Given the description of an element on the screen output the (x, y) to click on. 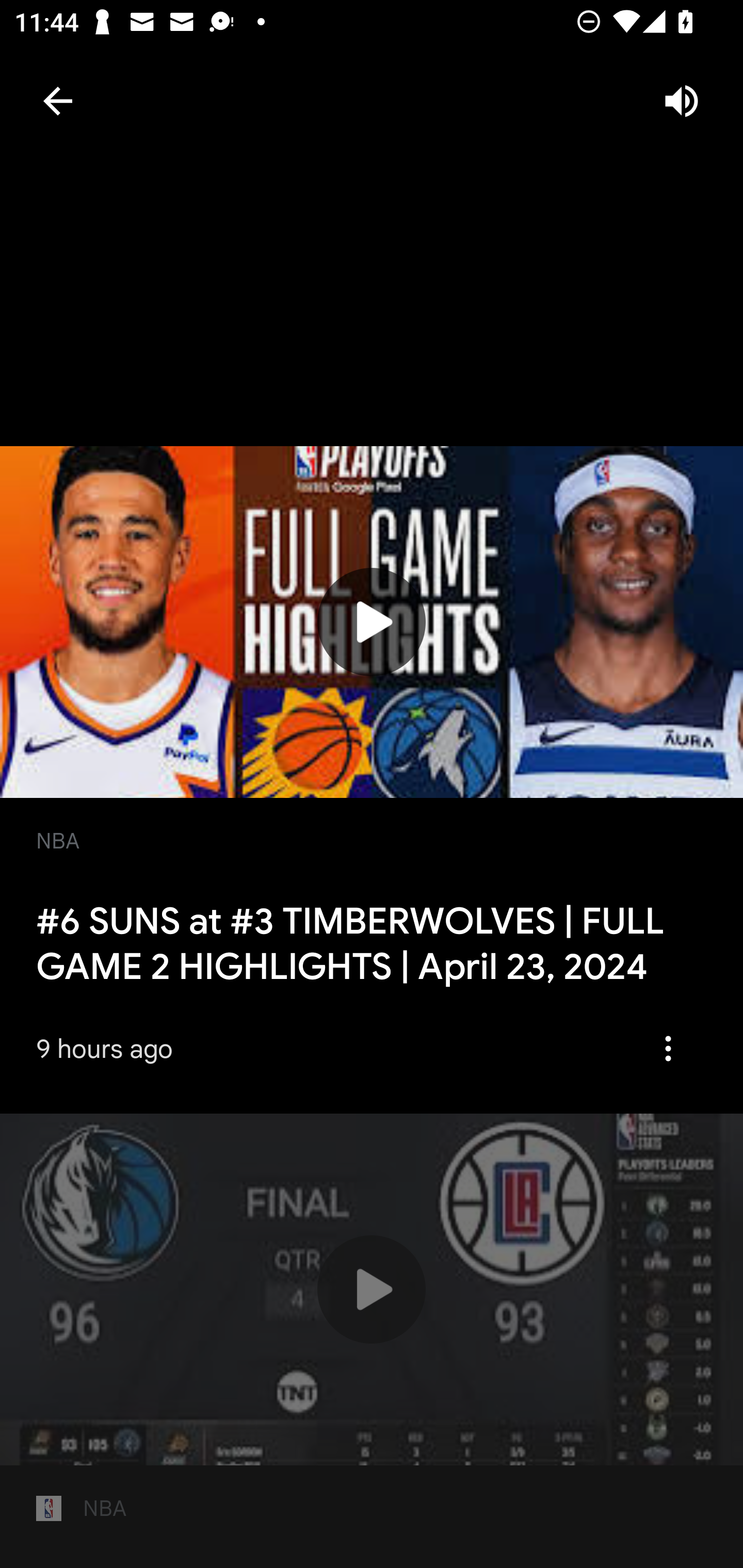
Navigate up (57, 100)
Unmute (681, 101)
Play (371, 621)
More options (675, 1048)
Play (371, 1289)
